Given the description of an element on the screen output the (x, y) to click on. 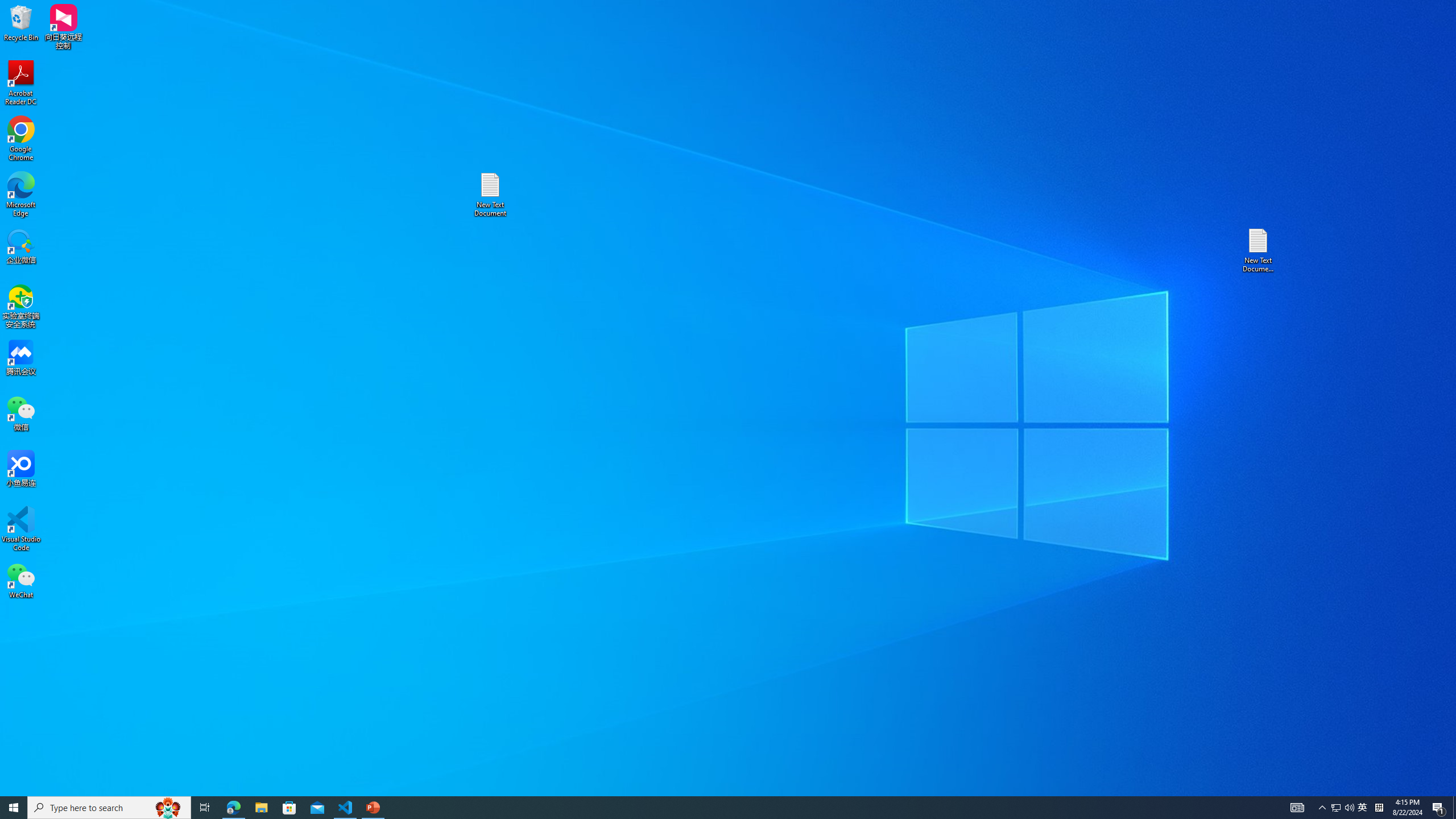
SmartArt... (298, 58)
Table (49, 58)
Header & Footer... (541, 58)
Screenshot (114, 58)
